Given the description of an element on the screen output the (x, y) to click on. 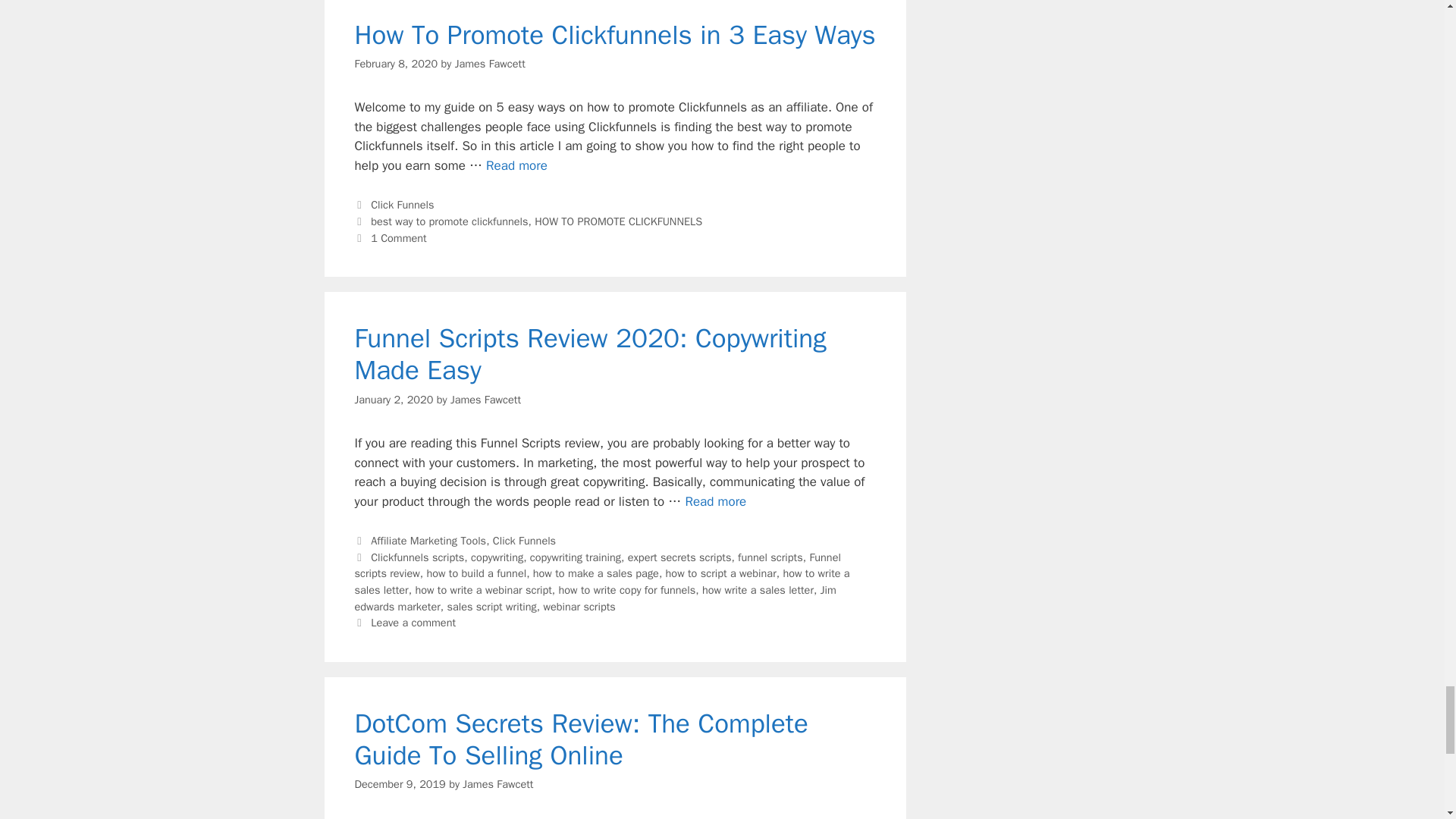
View all posts by James Fawcett (485, 399)
View all posts by James Fawcett (489, 63)
How To Promote Clickfunnels in 3 Easy Ways (516, 165)
View all posts by James Fawcett (497, 784)
Funnel Scripts Review 2020: Copywriting Made Easy (714, 501)
